Given the description of an element on the screen output the (x, y) to click on. 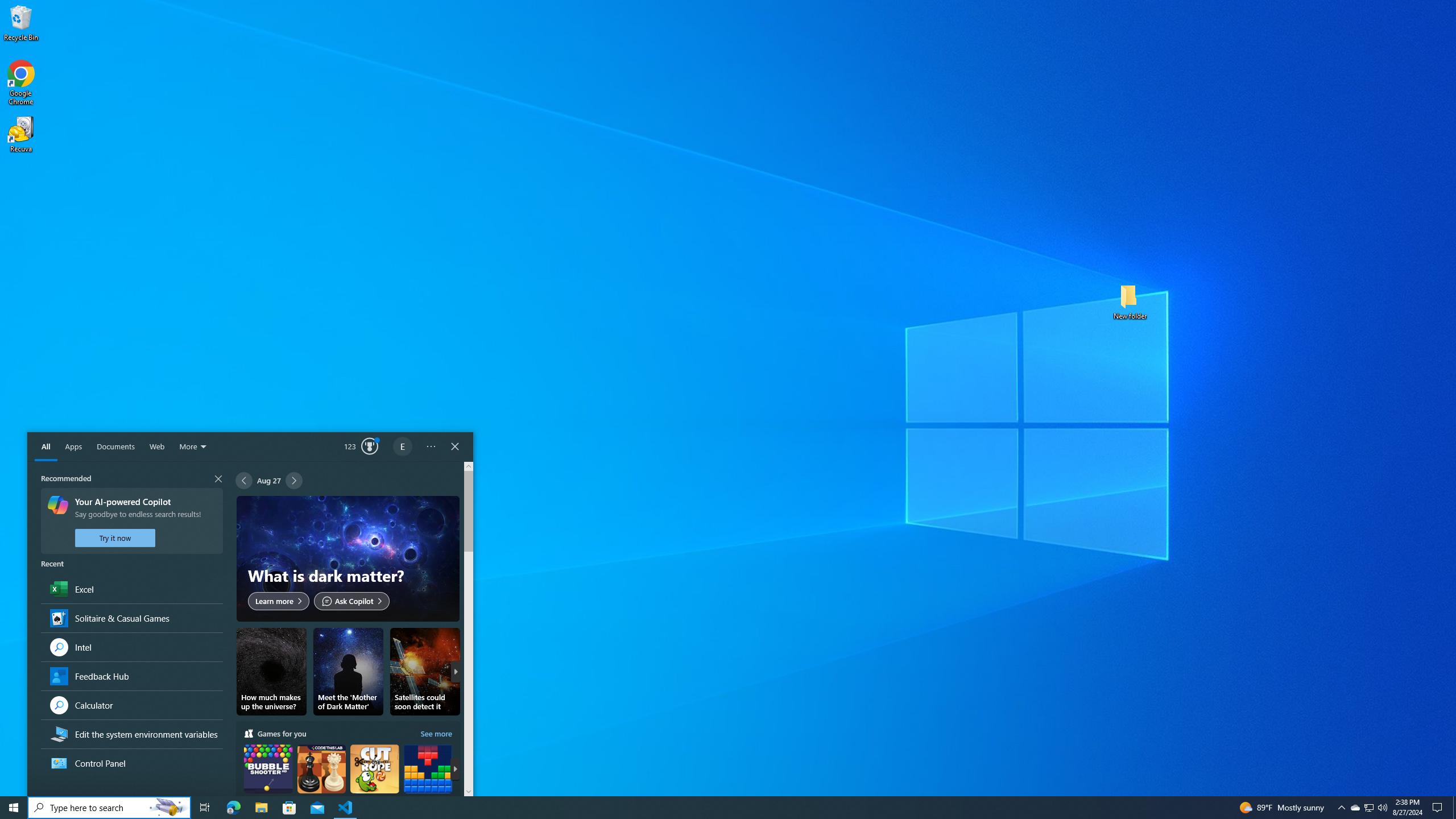
All (45, 447)
